Given the description of an element on the screen output the (x, y) to click on. 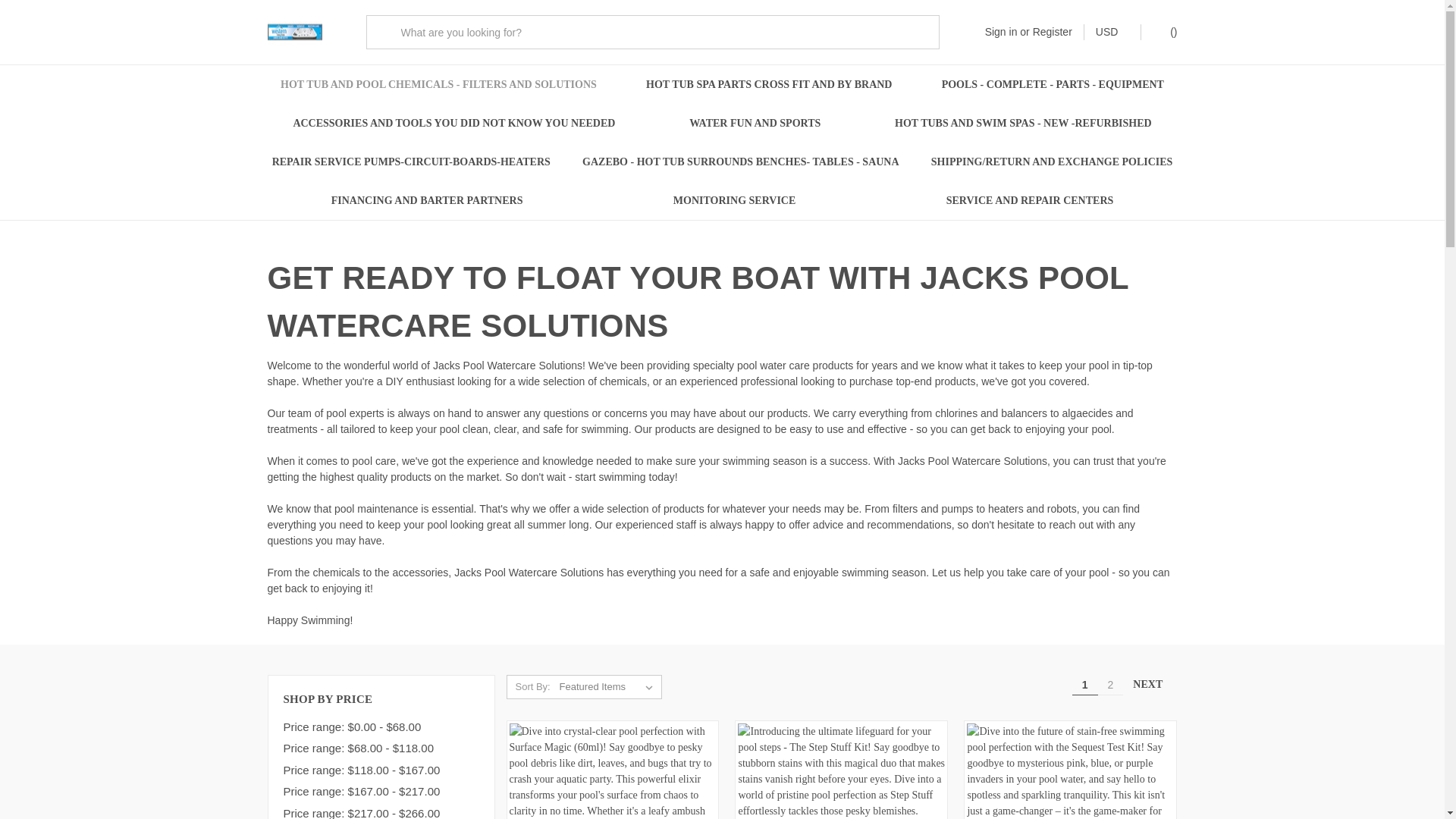
Register (1051, 32)
HOT TUB AND POOL CHEMICALS - FILTERS AND SOLUTIONS (438, 84)
USD (1112, 32)
Western Supply warehouse (293, 32)
Sign in (1001, 32)
